Given the description of an element on the screen output the (x, y) to click on. 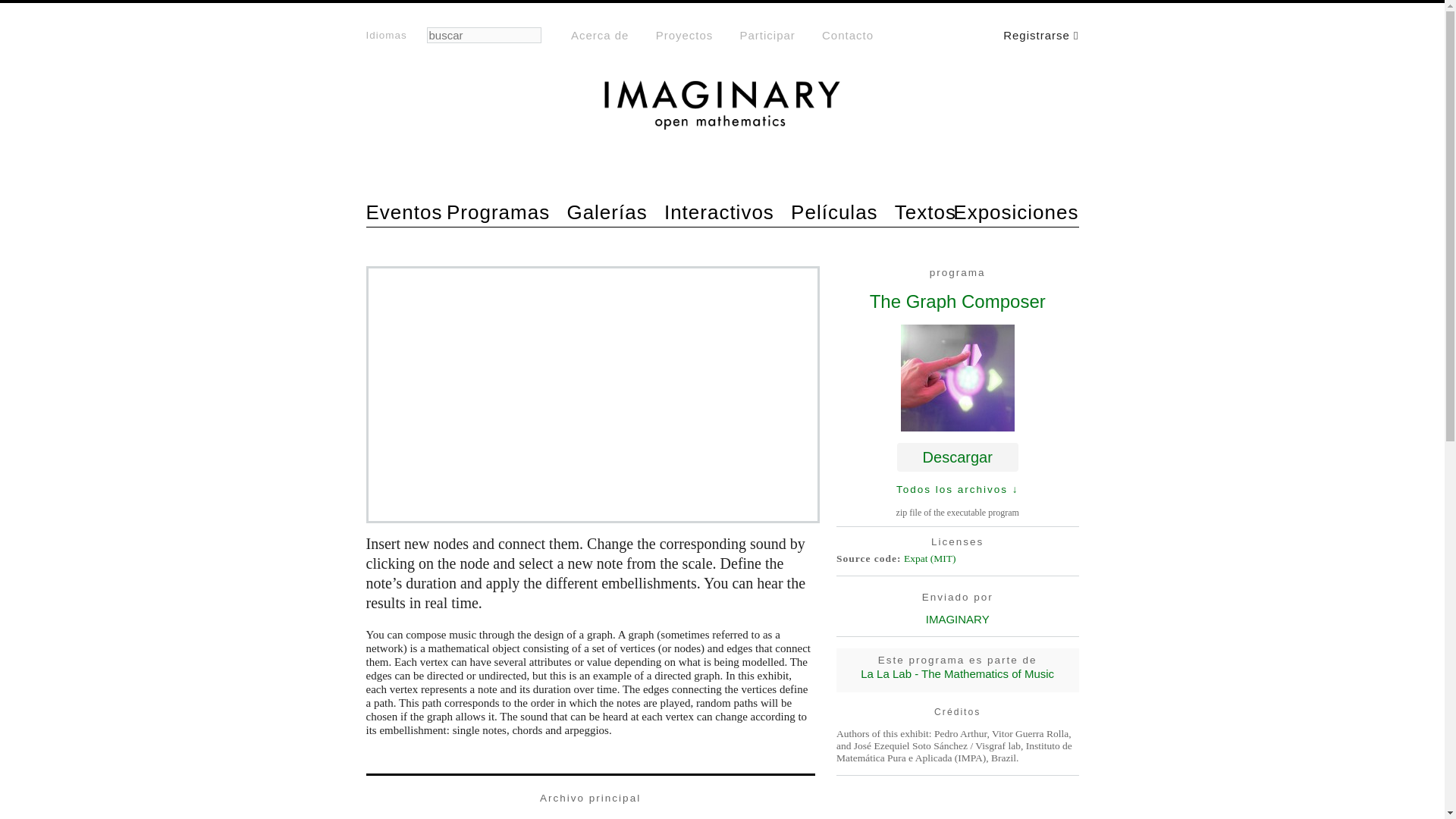
Textos (925, 213)
Interactivos (718, 213)
Escriba lo que quiere buscar. (483, 35)
IMAGINARY (958, 618)
The Graph Composer (957, 301)
Inicio (721, 112)
La La Lab - The Mathematics of Music (957, 673)
Inicio (426, 153)
Proyectos (684, 35)
IMAGINARY (426, 153)
Exposiciones (1015, 213)
Acerca de (599, 35)
Participar (766, 35)
